Given the description of an element on the screen output the (x, y) to click on. 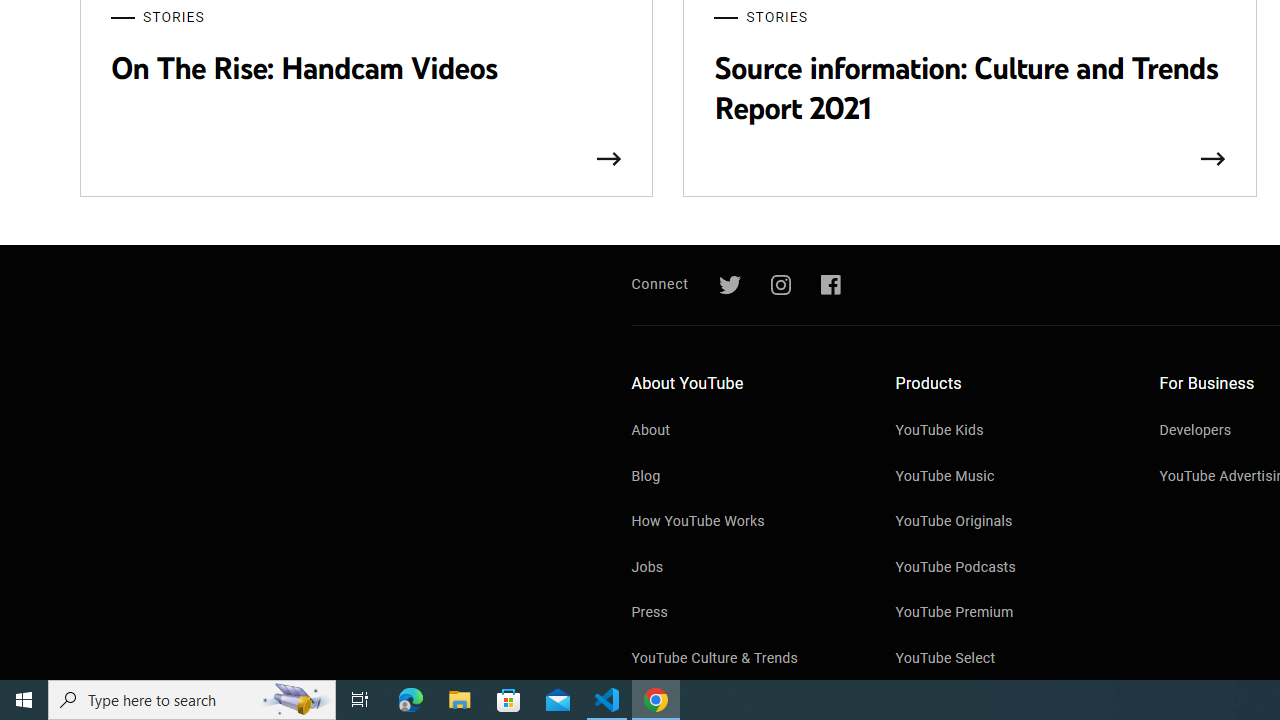
YouTube Music (1007, 478)
Facebook (829, 285)
YouTube Originals (1007, 523)
Jobs (743, 568)
YouTube Culture & Trends (743, 659)
YouTube Select (1007, 659)
Twitter (729, 285)
YouTube Podcasts (1007, 568)
Blog (743, 478)
Instagram (779, 285)
YouTube Kids (1007, 431)
YouTube Premium (1007, 614)
How YouTube Works (743, 523)
Press (743, 614)
